Given the description of an element on the screen output the (x, y) to click on. 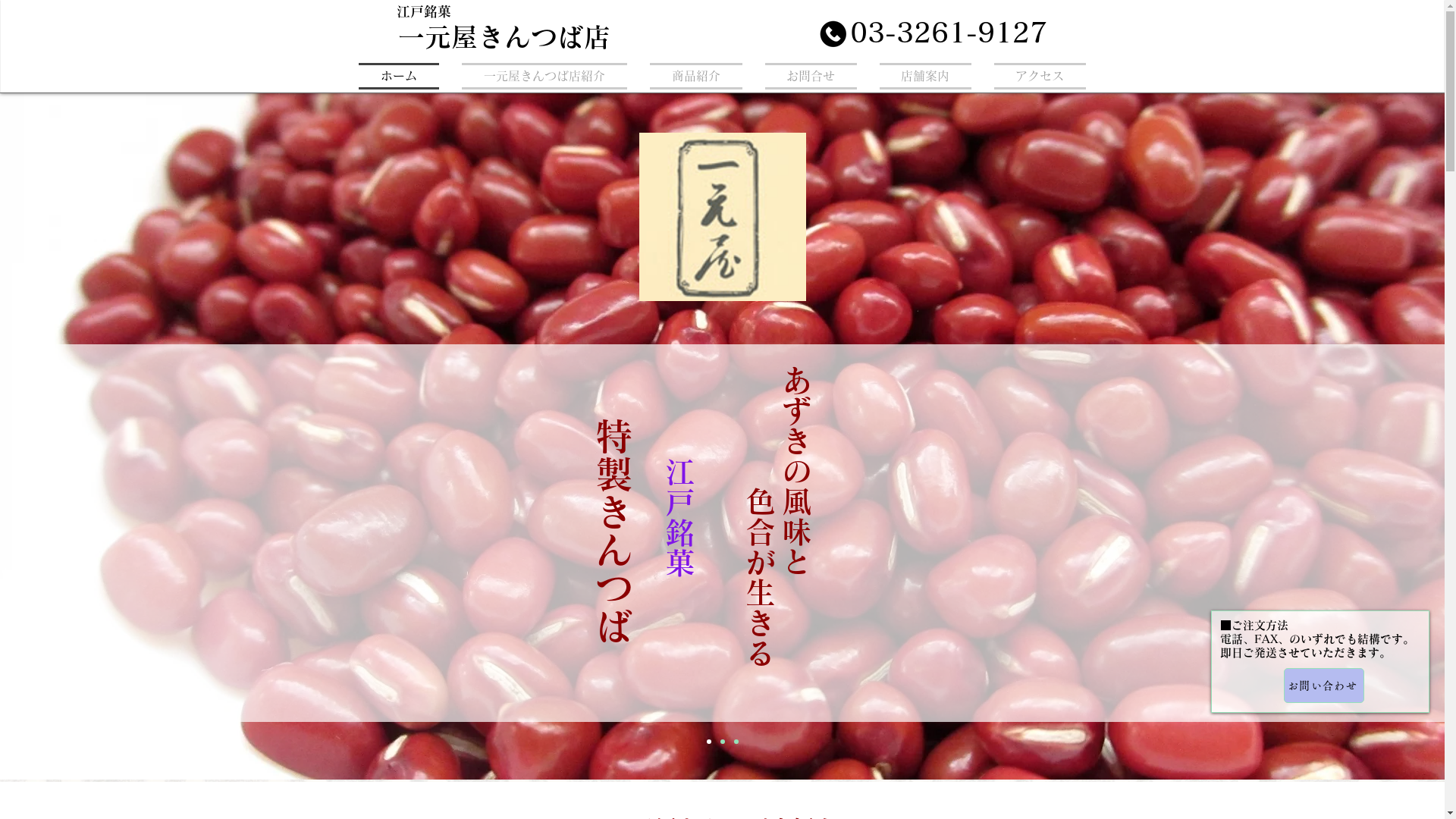
03-3261-9127 Element type: text (947, 32)
